Given the description of an element on the screen output the (x, y) to click on. 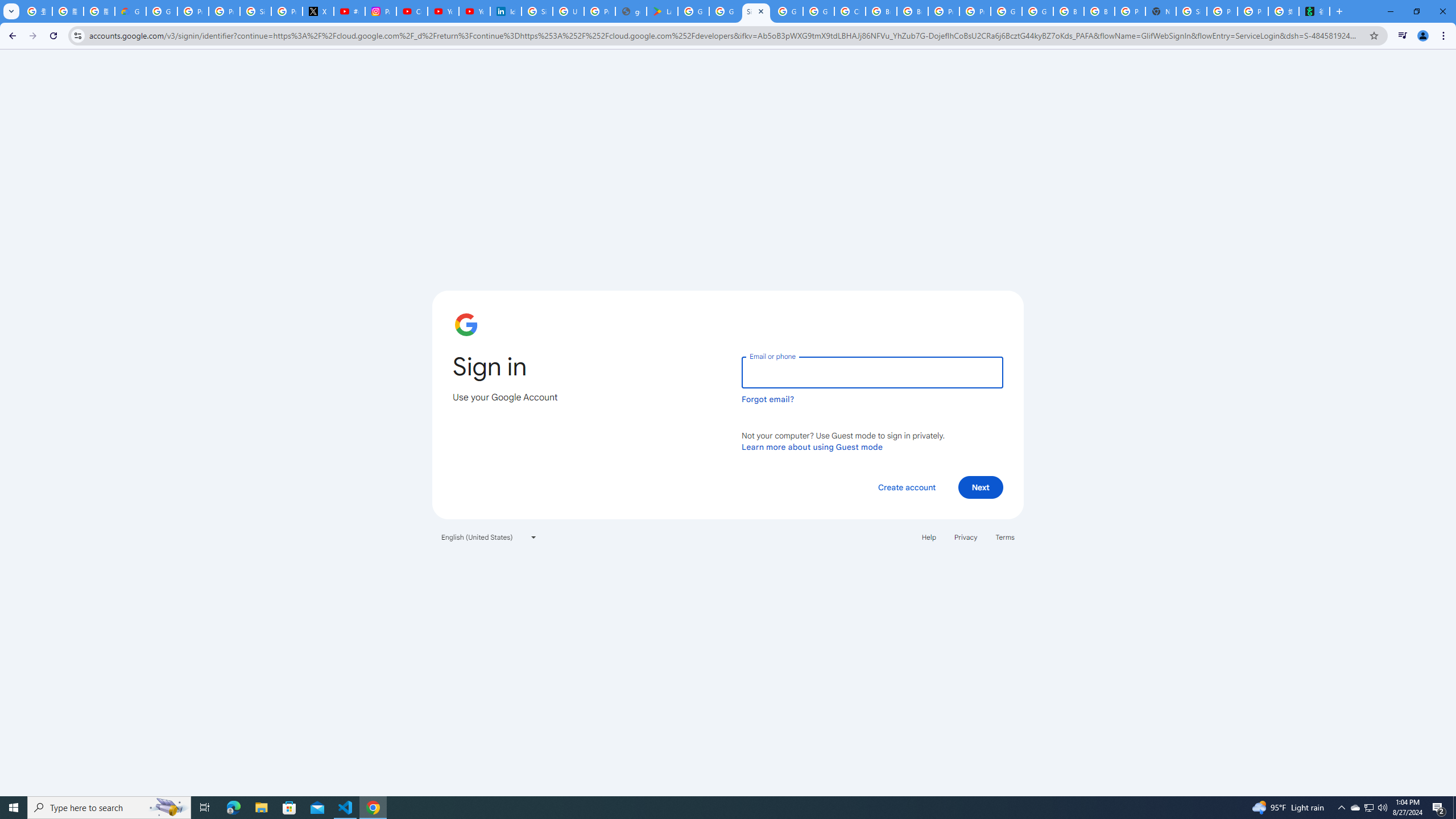
New Tab (1160, 11)
Last Shelter: Survival - Apps on Google Play (662, 11)
X (318, 11)
Google Cloud Privacy Notice (130, 11)
Sign in - Google Accounts (536, 11)
Learn more about using Guest mode (812, 446)
Google Cloud Platform (787, 11)
